Given the description of an element on the screen output the (x, y) to click on. 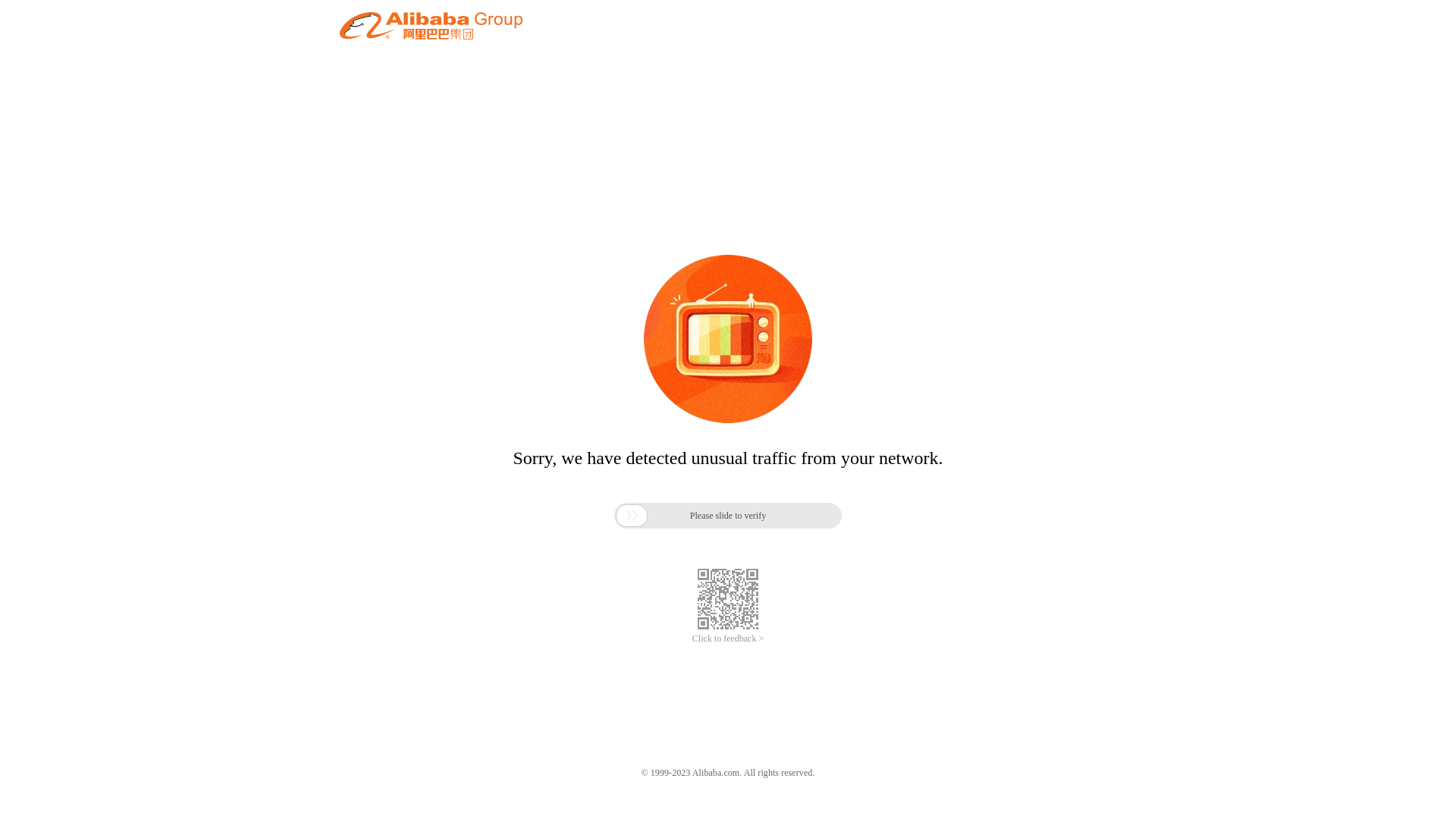
Click to feedback > Element type: text (727, 638)
